Given the description of an element on the screen output the (x, y) to click on. 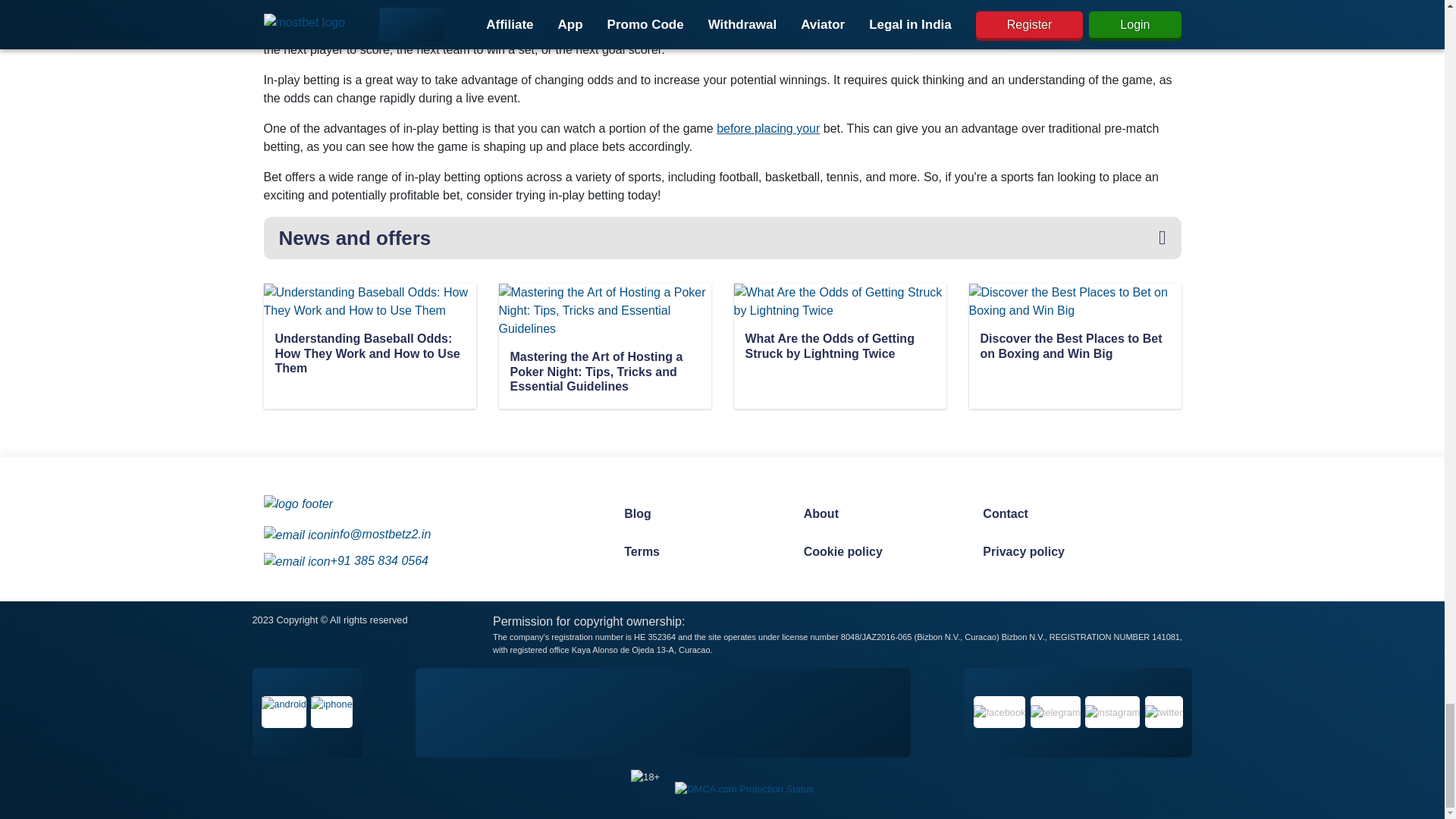
About (877, 513)
before placing your (767, 128)
Terms (697, 552)
Contact (1056, 513)
Blog (697, 513)
Discover the Best Places to Bet on Boxing and Win Big (1074, 347)
What Are the Odds of Getting Struck by Lightning Twice (839, 347)
DMCA.com Protection Status (743, 787)
